Given the description of an element on the screen output the (x, y) to click on. 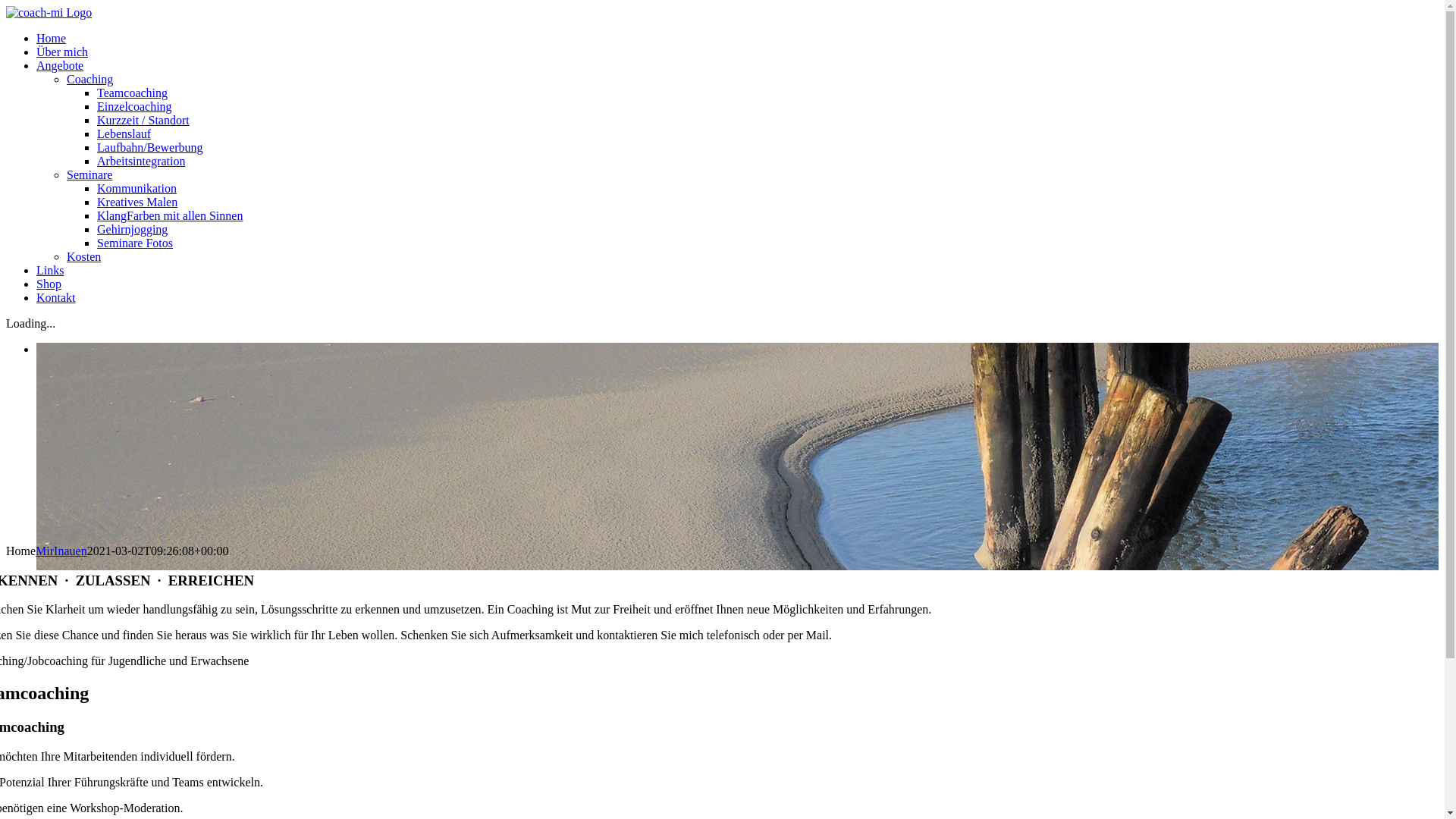
Home Element type: text (50, 37)
Coaching Element type: text (89, 78)
Laufbahn/Bewerbung Element type: text (150, 147)
Seminare Element type: text (89, 174)
Arbeitsintegration Element type: text (141, 160)
MirInauen Element type: text (61, 550)
Zum Inhalt springen Element type: text (5, 5)
Kreatives Malen Element type: text (137, 201)
Shop Element type: text (48, 283)
Seminare Fotos Element type: text (134, 242)
Lebenslauf Element type: text (123, 133)
Teamcoaching Element type: text (132, 92)
Einzelcoaching Element type: text (134, 106)
Angebote Element type: text (59, 65)
Kurzzeit / Standort Element type: text (143, 119)
Links Element type: text (49, 269)
Kosten Element type: text (83, 256)
Kommunikation Element type: text (136, 188)
KlangFarben mit allen Sinnen Element type: text (169, 215)
Kontakt Element type: text (55, 297)
Gehirnjogging Element type: text (132, 228)
